Given the description of an element on the screen output the (x, y) to click on. 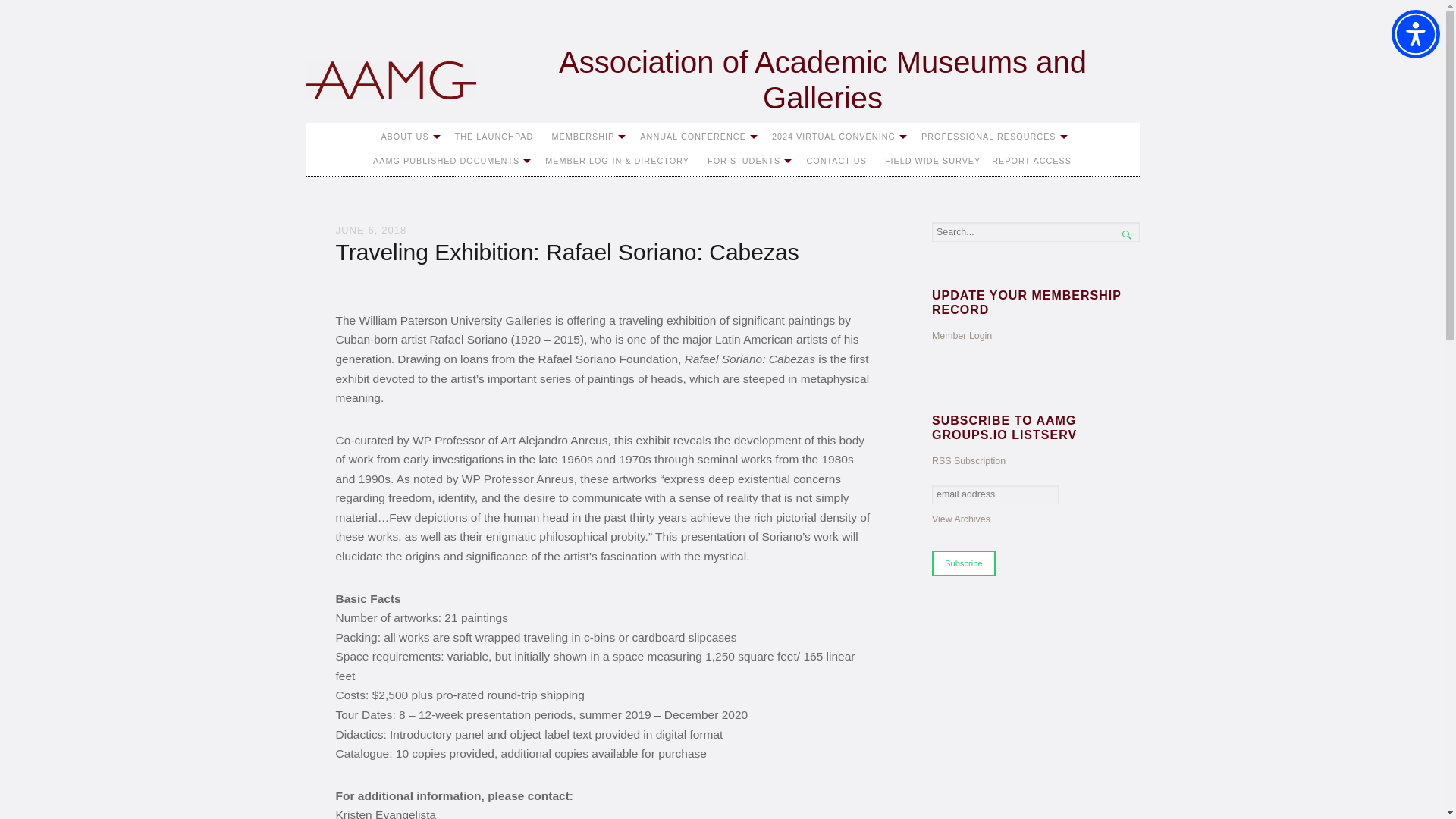
MEMBERSHIP (585, 137)
Subscribe (963, 563)
Home (721, 80)
Association of Academic Museums and Galleries (721, 80)
Accessibility Menu (1415, 33)
Member Login (961, 335)
Home (390, 80)
THE LAUNCHPAD (493, 137)
ANNUAL CONFERENCE (696, 137)
ABOUT US (408, 137)
